Given the description of an element on the screen output the (x, y) to click on. 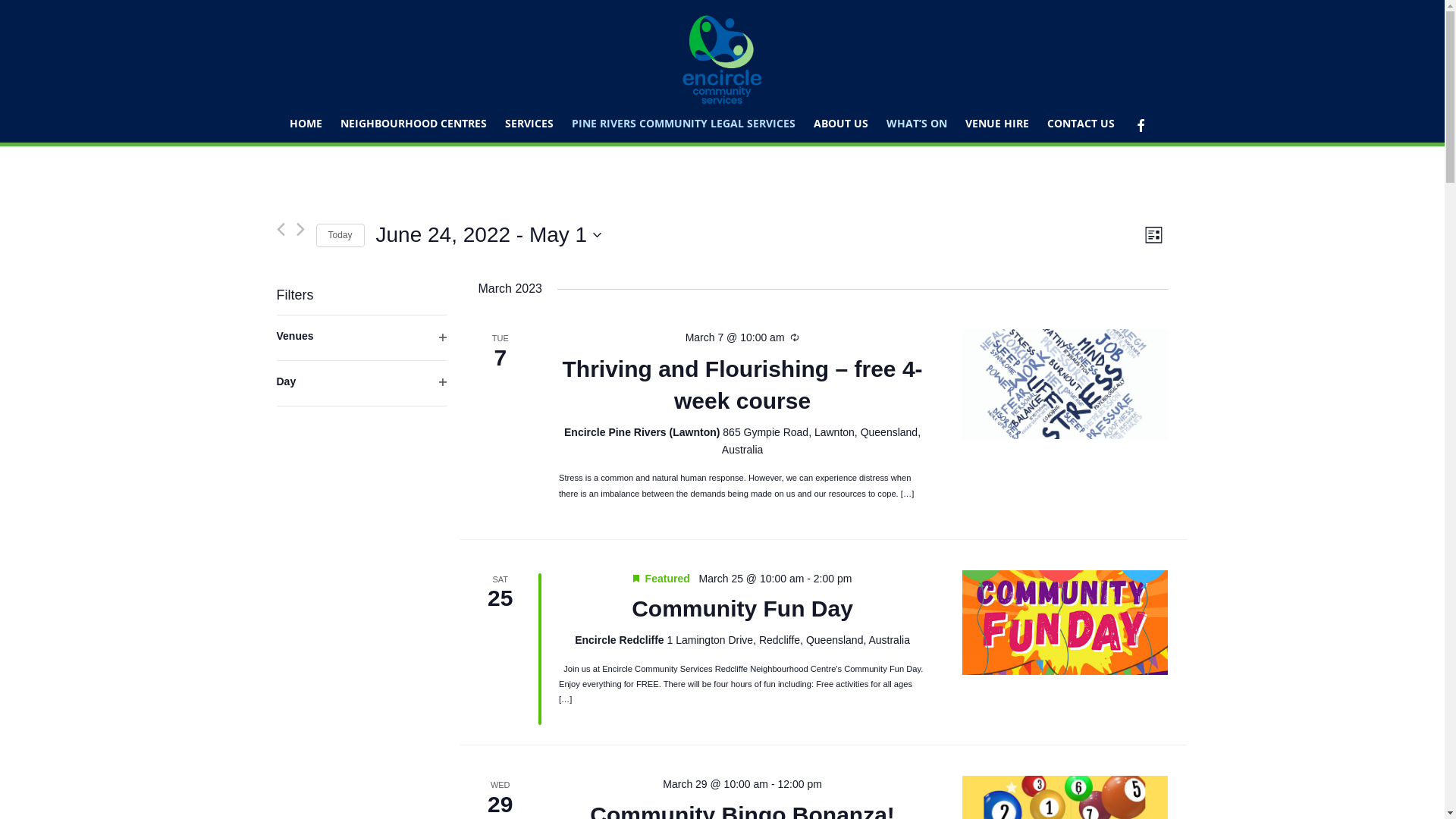
HOME Element type: text (305, 123)
Community Fun Day Element type: hover (1064, 622)
Venues
Open filter Element type: text (360, 337)
June 24, 2022
 - 
May 1 Element type: text (489, 234)
Today Element type: text (339, 235)
PINE RIVERS COMMUNITY LEGAL SERVICES Element type: text (683, 123)
Day
Open filter Element type: text (360, 382)
List Element type: text (1153, 235)
Previous Events Element type: hover (280, 229)
Recurring Element type: text (794, 338)
ABOUT US Element type: text (839, 123)
NEIGHBOURHOOD CENTRES Element type: text (412, 123)
Community Fun Day Element type: text (742, 608)
Next Events Element type: hover (299, 229)
CONTACT US Element type: text (1080, 123)
VENUE HIRE Element type: text (996, 123)
SERVICES Element type: text (528, 123)
